Given the description of an element on the screen output the (x, y) to click on. 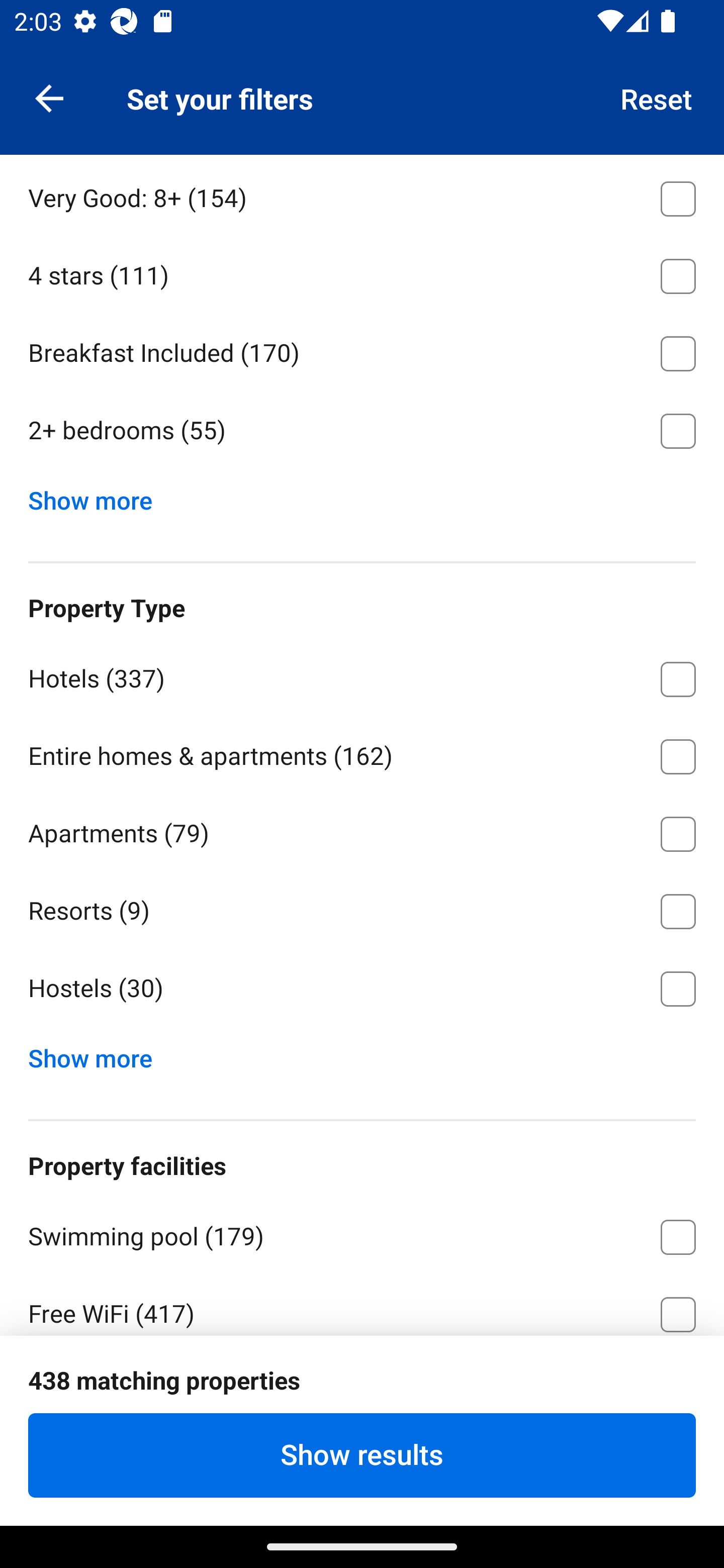
Navigate up (49, 97)
Reset (656, 97)
Apartments ⁦(79) (361, 155)
Very Good: 8+ ⁦(154) (361, 194)
4 stars ⁦(111) (361, 272)
Breakfast Included ⁦(170) (361, 350)
2+ bedrooms ⁦(55) (361, 430)
Show more (97, 496)
Hotels ⁦(337) (361, 675)
Entire homes & apartments ⁦(162) (361, 753)
Apartments ⁦(79) (361, 829)
Resorts ⁦(9) (361, 907)
Hostels ⁦(30) (361, 989)
Show more (97, 1054)
Swimming pool ⁦(179) (361, 1233)
Free WiFi ⁦(417) (361, 1304)
Free parking ⁦(108) (361, 1388)
Show results (361, 1454)
